Given the description of an element on the screen output the (x, y) to click on. 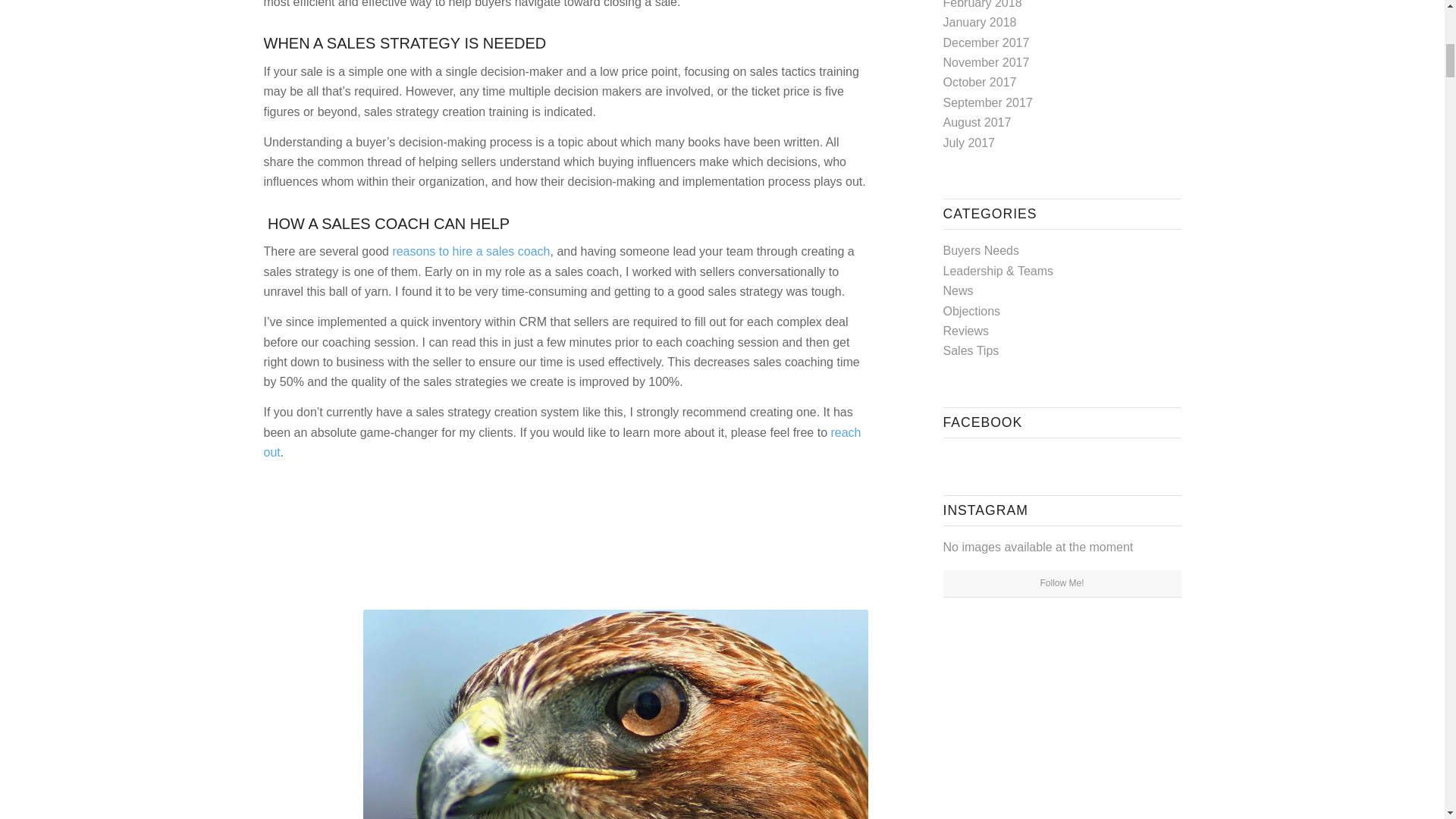
reasons to hire a sales coach (470, 250)
reach out (562, 441)
